Given the description of an element on the screen output the (x, y) to click on. 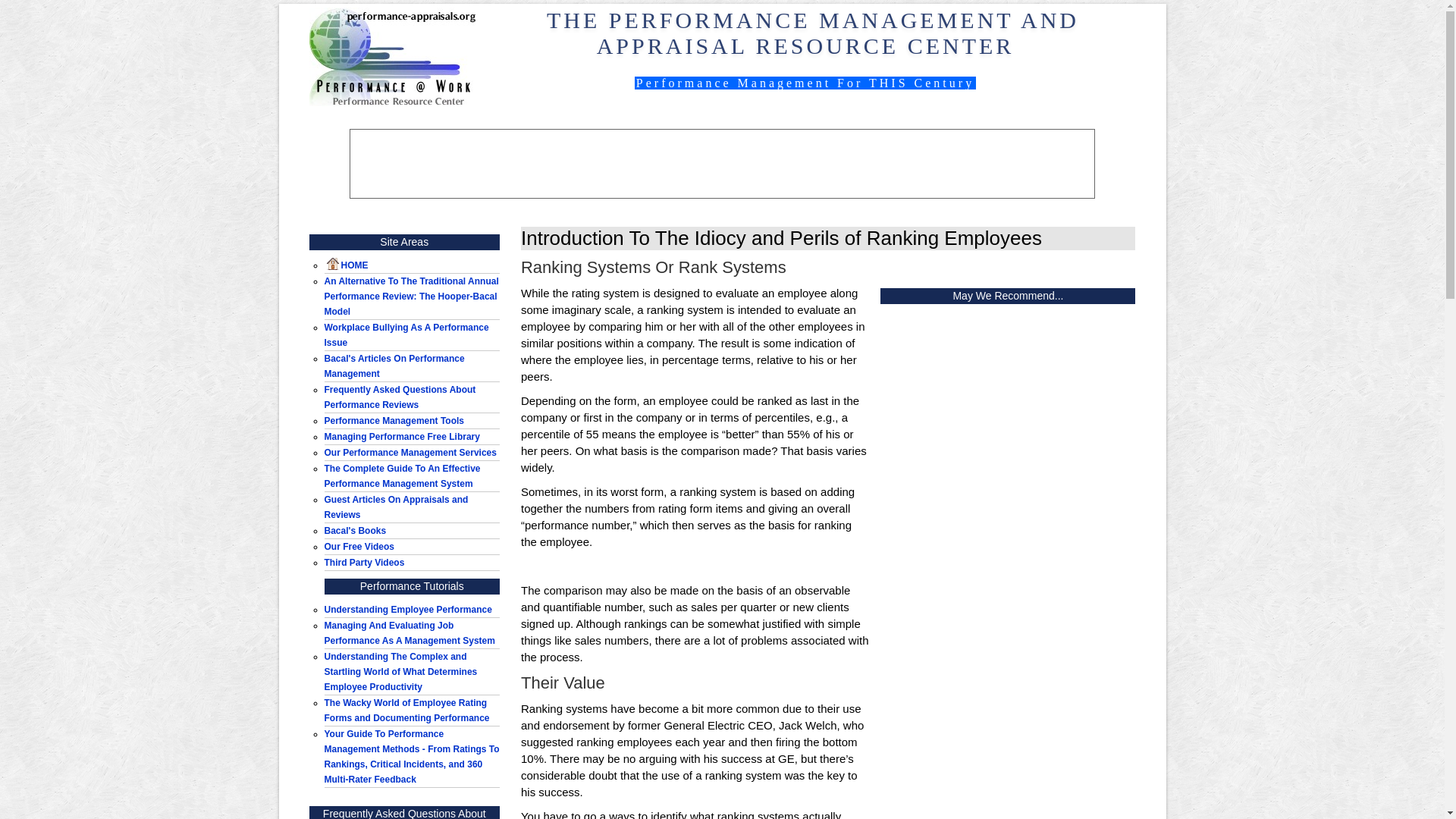
Performance Management Tools (394, 420)
Managing Performance Free Library (402, 436)
Read about how we can help - consulting, seminars, tools (410, 452)
Frequently Asked Questions About Performance Reviews (400, 397)
Our Performance Management Services (410, 452)
Performance Management For THIS Century (804, 82)
Bacal's Articles On Performance Management (394, 365)
Fresh insight on performance by Robert Bacal (394, 365)
Explore the various methods for conducting reviews (411, 756)
